Given the description of an element on the screen output the (x, y) to click on. 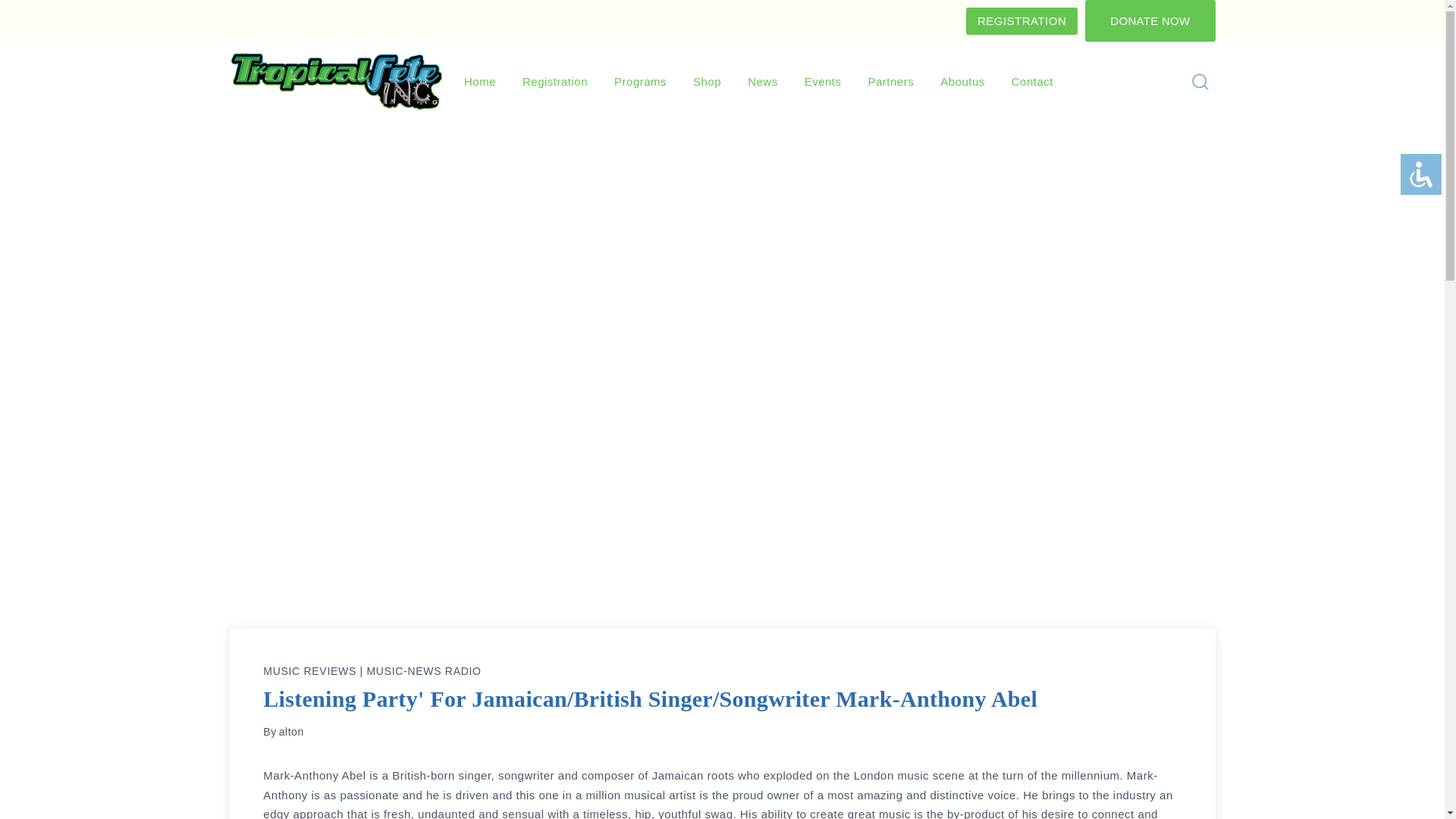
MUSIC REVIEWS (309, 671)
alton (291, 731)
MUSIC-NEWS RADIO (423, 671)
DONATE NOW (1149, 20)
Registration (555, 81)
Partners (890, 81)
Programs (640, 81)
REGISTRATION (1021, 21)
